Given the description of an element on the screen output the (x, y) to click on. 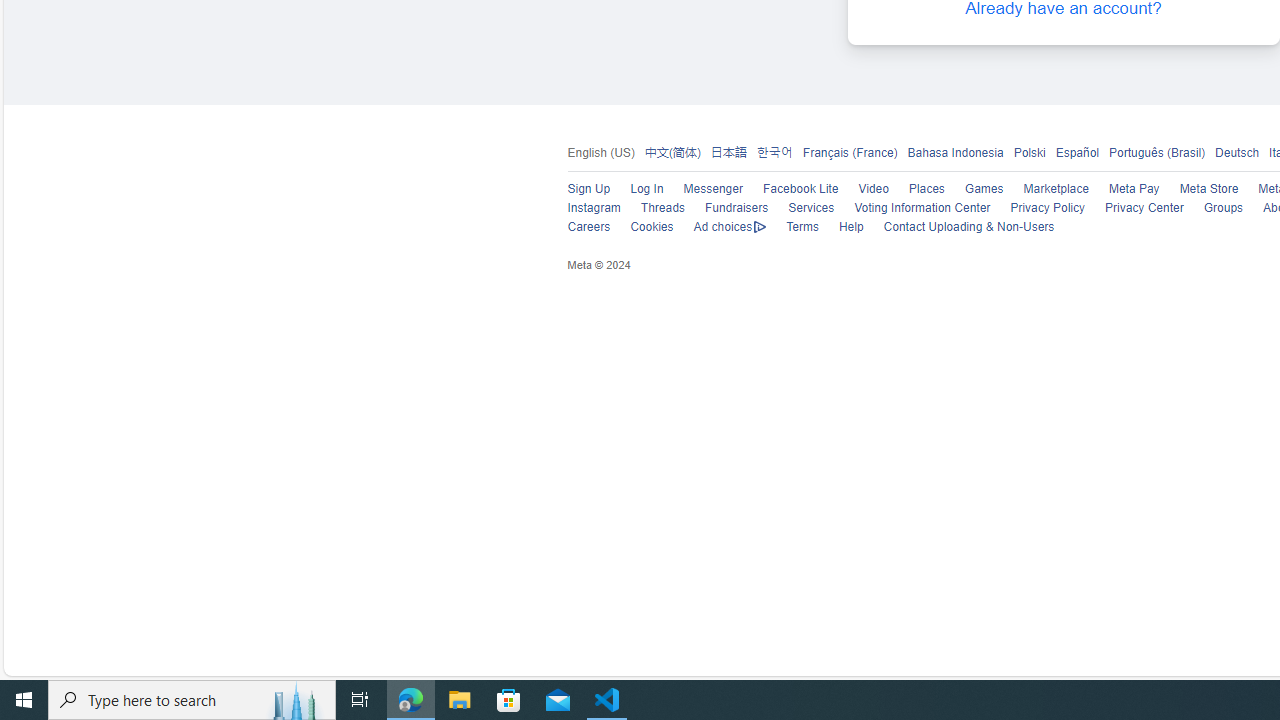
Polski (1028, 151)
Threads (651, 208)
Careers (578, 228)
Meta Pay (1123, 190)
Instagram (593, 208)
Video (873, 189)
Marketplace (1046, 190)
Cookies (651, 227)
Messenger (702, 190)
Privacy Policy (1047, 208)
